Given the description of an element on the screen output the (x, y) to click on. 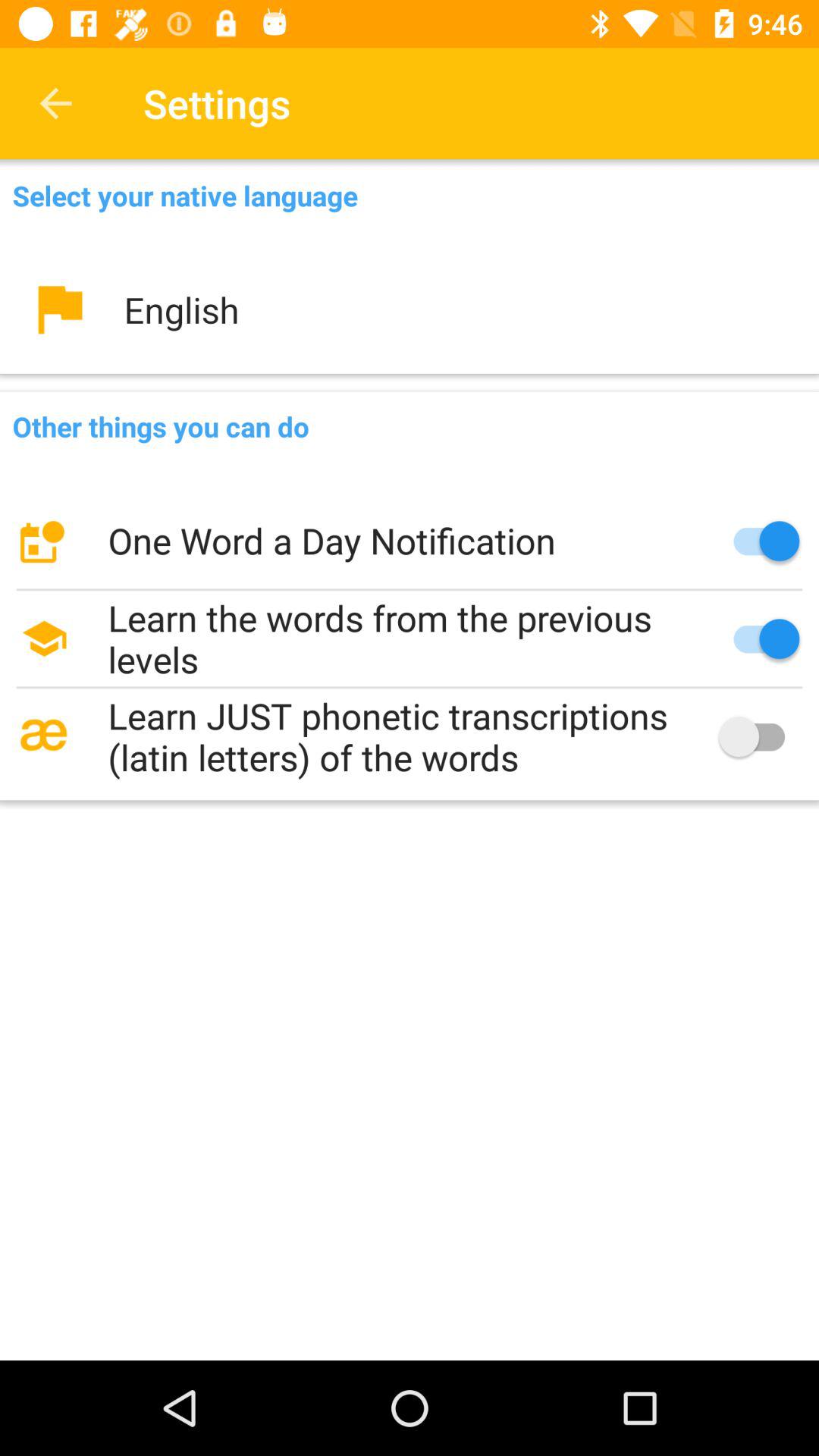
tap the one word a (409, 540)
